Given the description of an element on the screen output the (x, y) to click on. 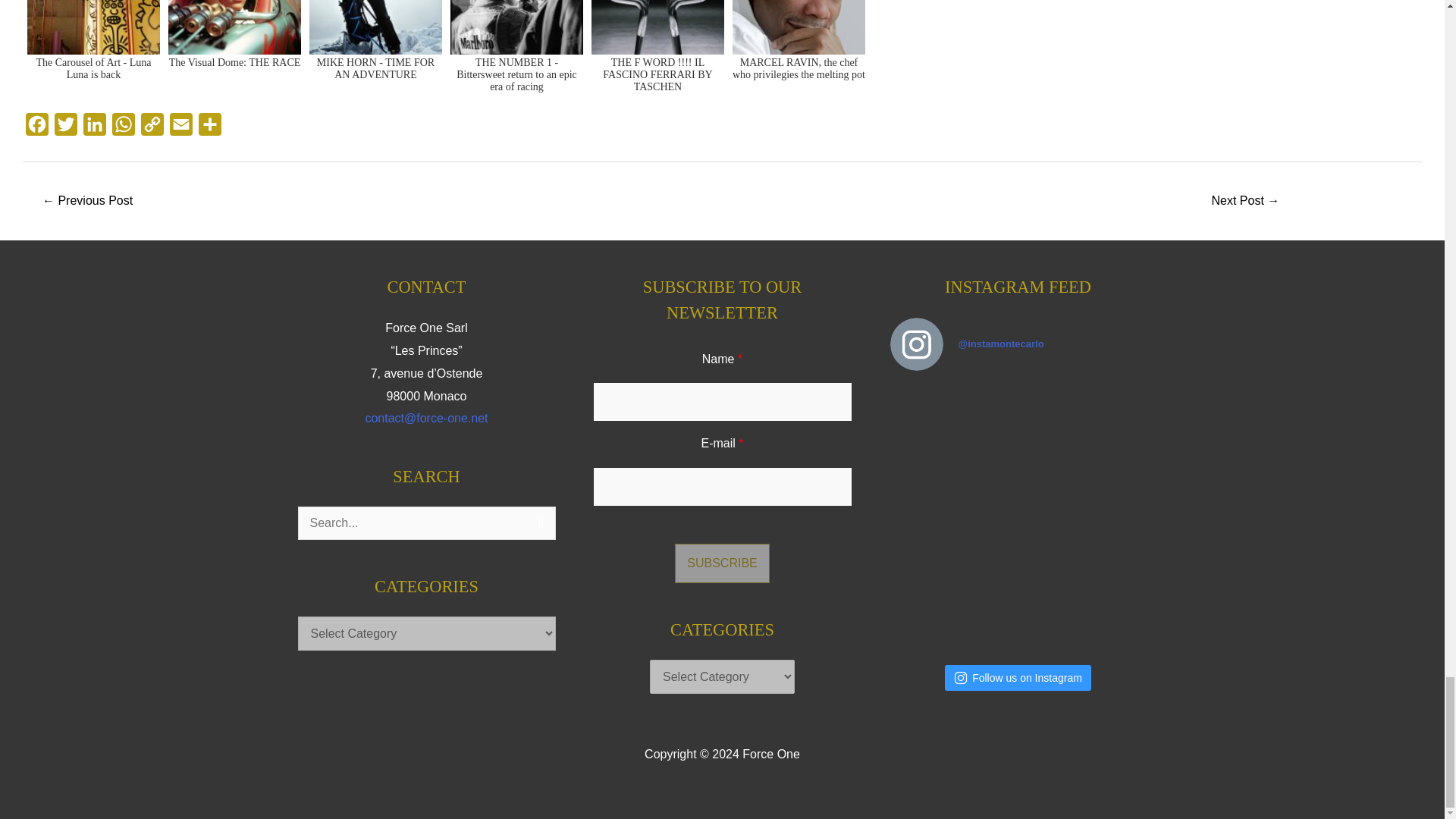
The Visual Dome: THE RACE (234, 48)
WhatsApp (123, 128)
THE F WORD !!!! IL FASCINO FERRARI BY TASCHEN (657, 48)
Twitter (65, 128)
LinkedIn (94, 128)
WhatsApp (123, 128)
Facebook (36, 128)
Copy Link (152, 128)
Copy Link (152, 128)
LinkedIn (94, 128)
